Given the description of an element on the screen output the (x, y) to click on. 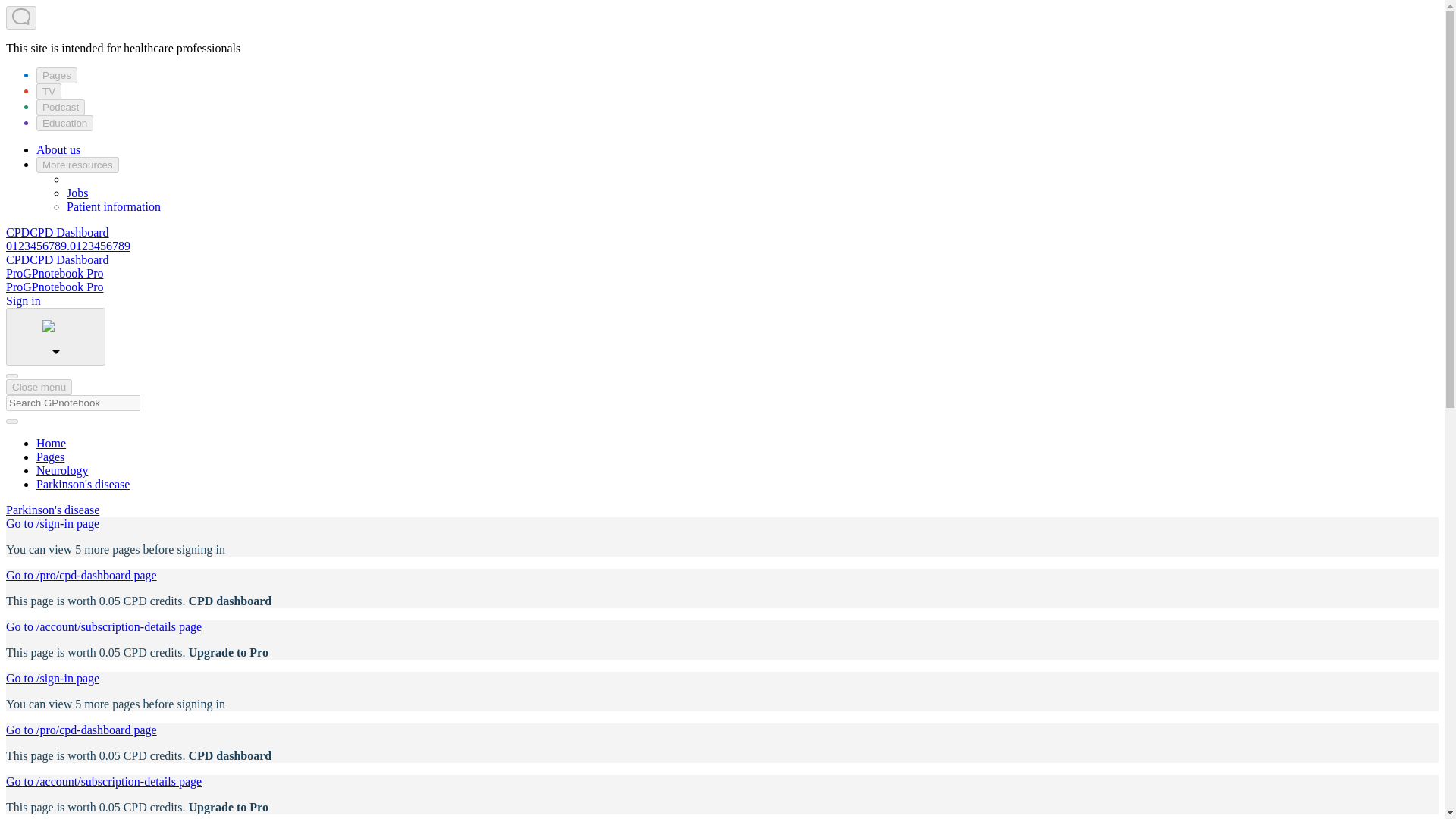
Parkinson's disease (82, 483)
CPDCPD Dashboard (57, 259)
Pages (50, 456)
Home (50, 442)
Close menu (38, 386)
Patient information (113, 205)
More resources (77, 164)
TV (48, 91)
Jobs (76, 192)
ProGPnotebook Pro (54, 273)
Education (64, 123)
Neurology (61, 470)
ProGPnotebook Pro (54, 286)
Parkinson's disease (52, 509)
About us (58, 149)
